Given the description of an element on the screen output the (x, y) to click on. 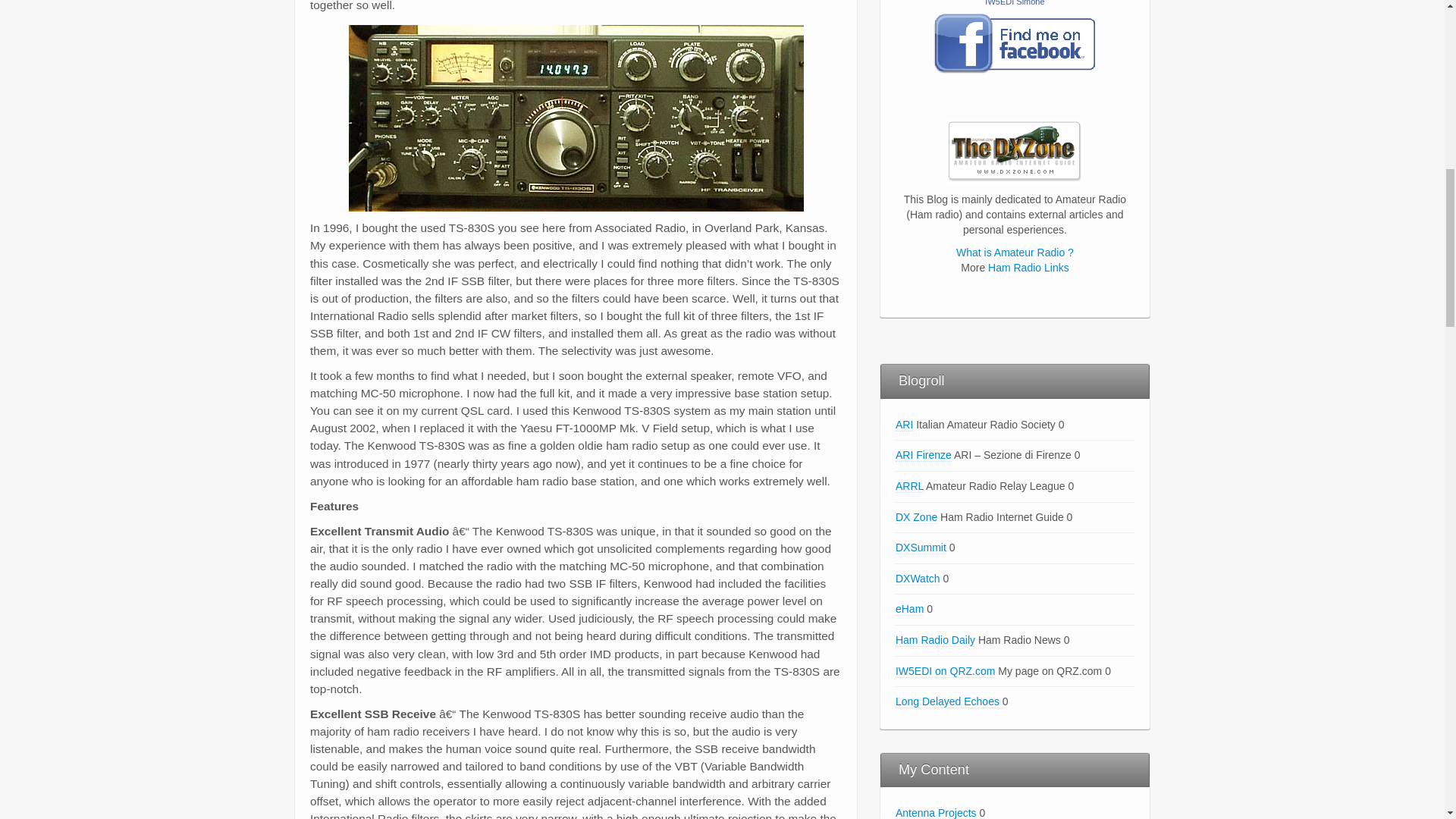
Italian Amateur Radio Society (903, 424)
Simone Mannini (1014, 2)
Simone Mannini (1014, 44)
ham radio (1014, 151)
